Given the description of an element on the screen output the (x, y) to click on. 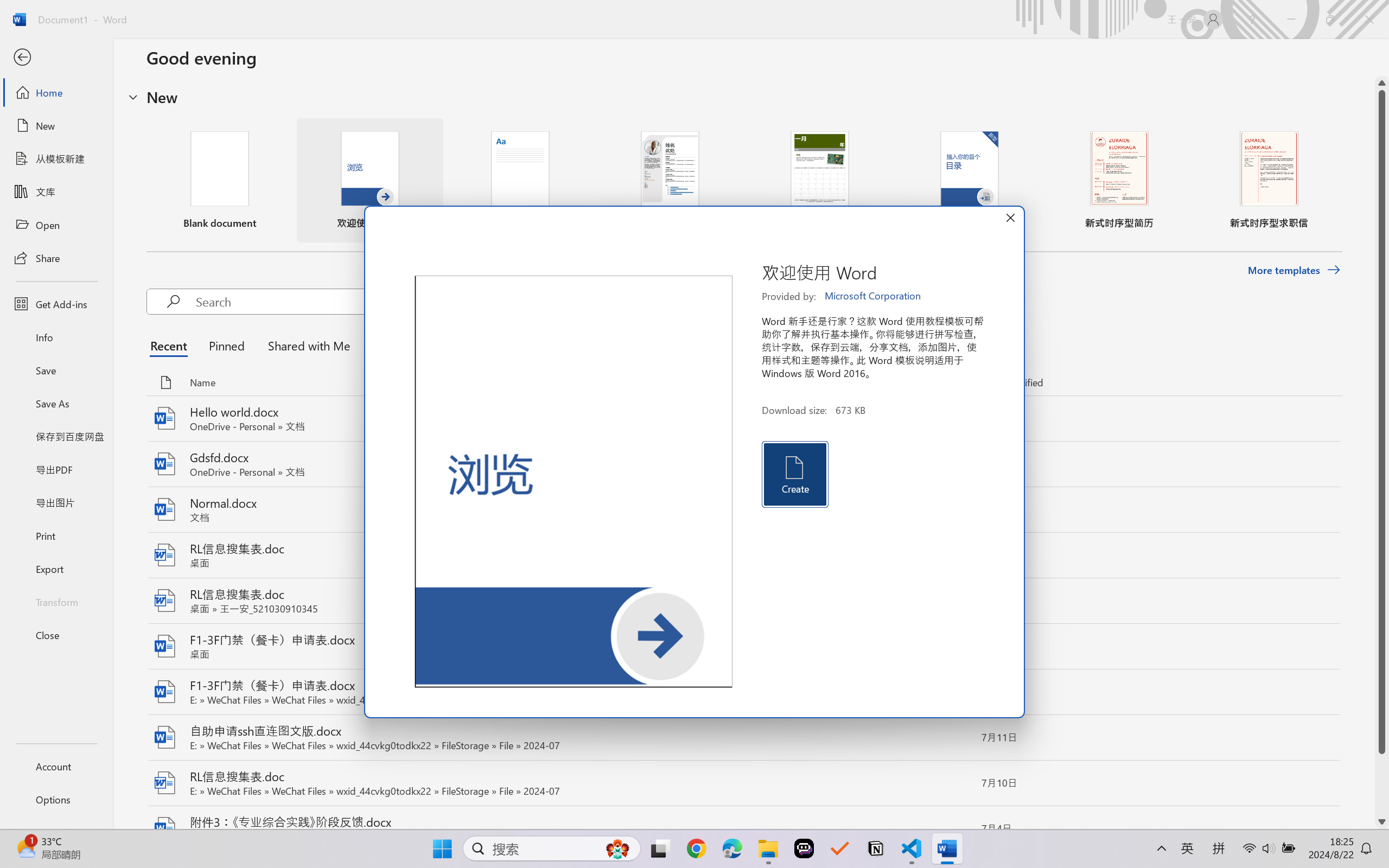
Microsoft Corporation (873, 296)
Transform (56, 601)
Print (56, 535)
Shared with Me (305, 345)
Save As (56, 403)
Recent (171, 345)
